Given the description of an element on the screen output the (x, y) to click on. 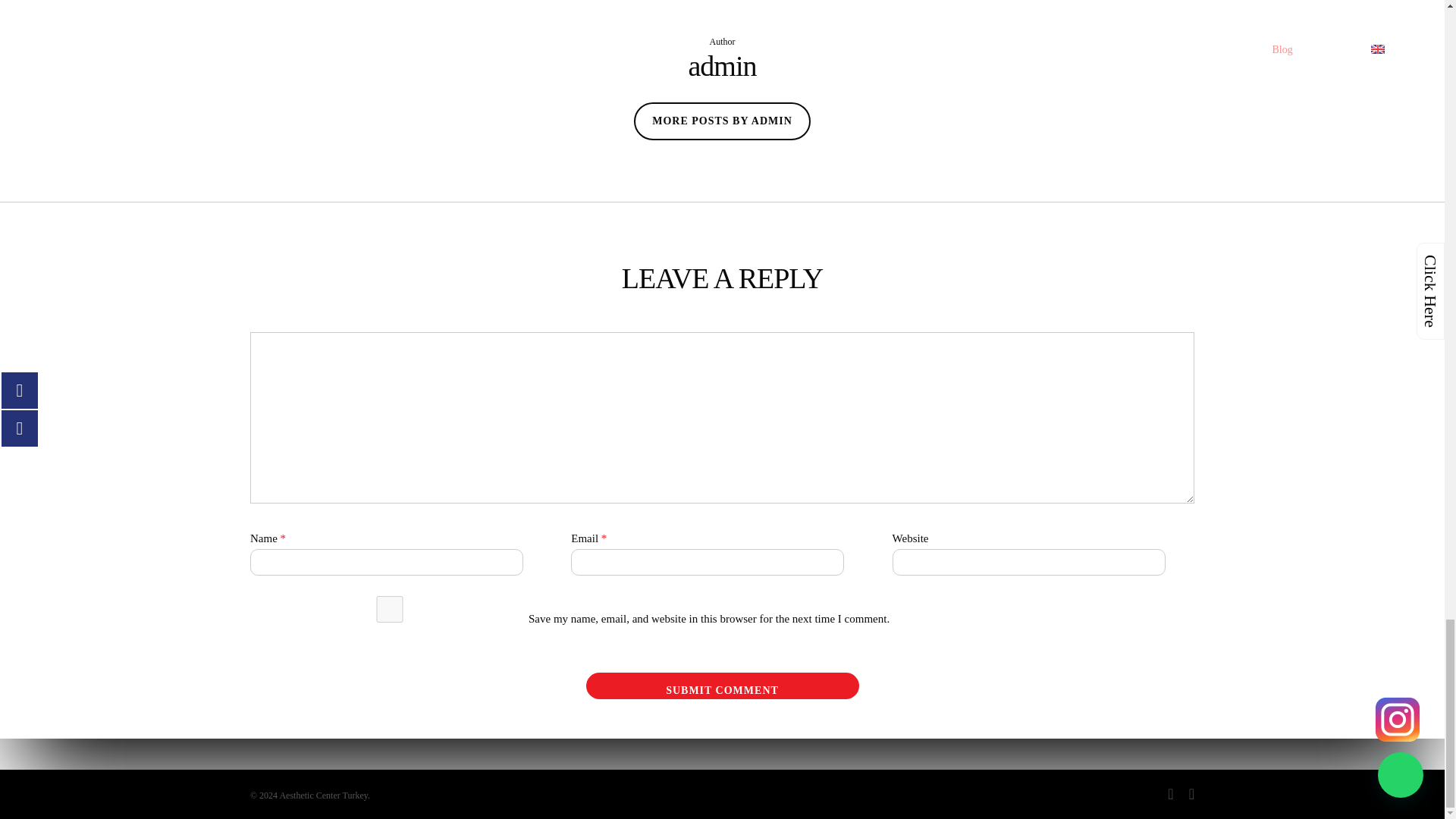
Submit Comment (722, 685)
yes (389, 609)
